Given the description of an element on the screen output the (x, y) to click on. 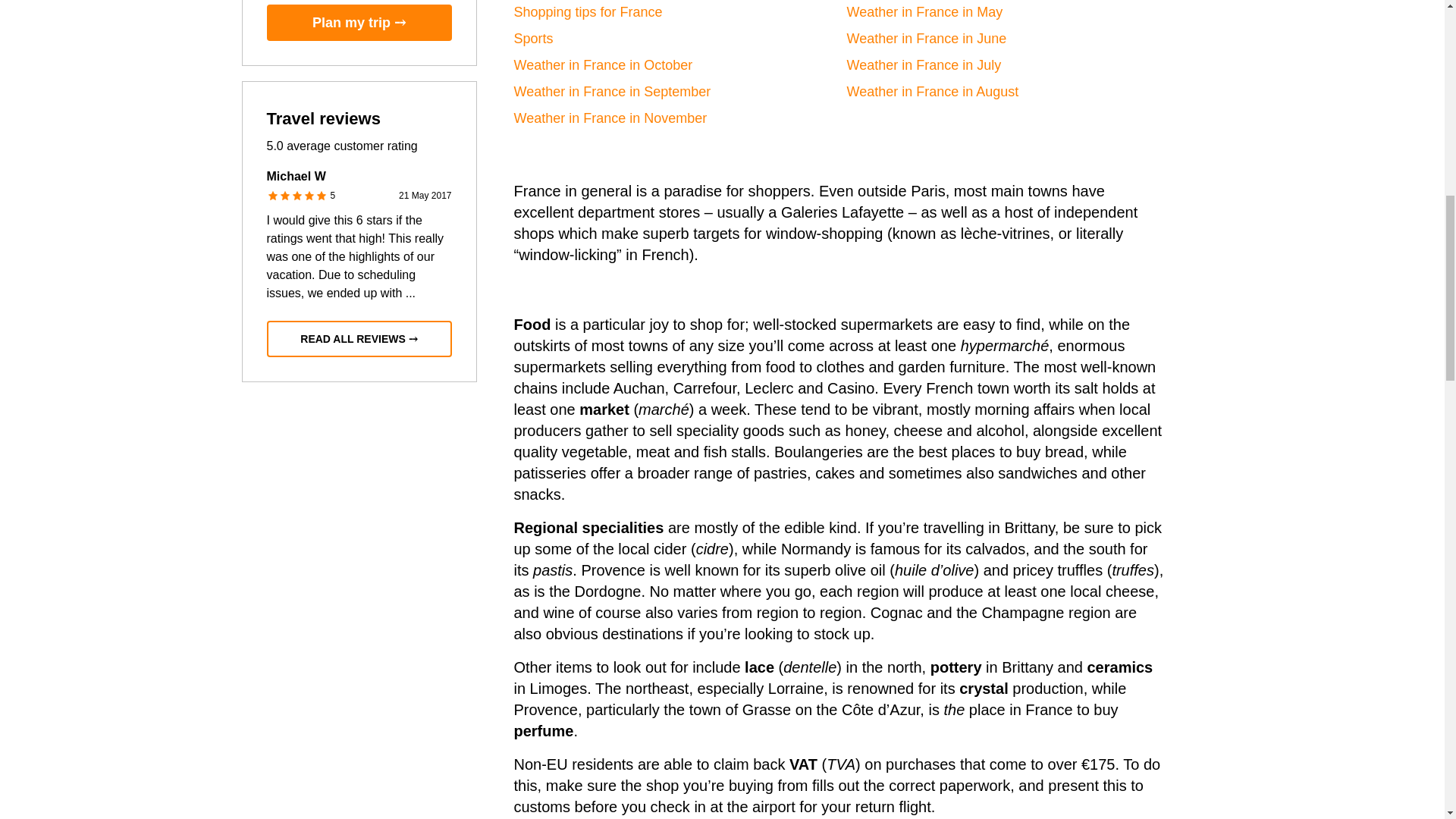
Weather in France in November (610, 118)
Weather in France in July (923, 64)
Sports (533, 38)
Weather in France in June (925, 38)
Weather in France in May (924, 11)
Weather in France in September (612, 91)
Weather in France in August (931, 91)
Shopping tips for France (587, 11)
Weather in France in October (603, 64)
